Given the description of an element on the screen output the (x, y) to click on. 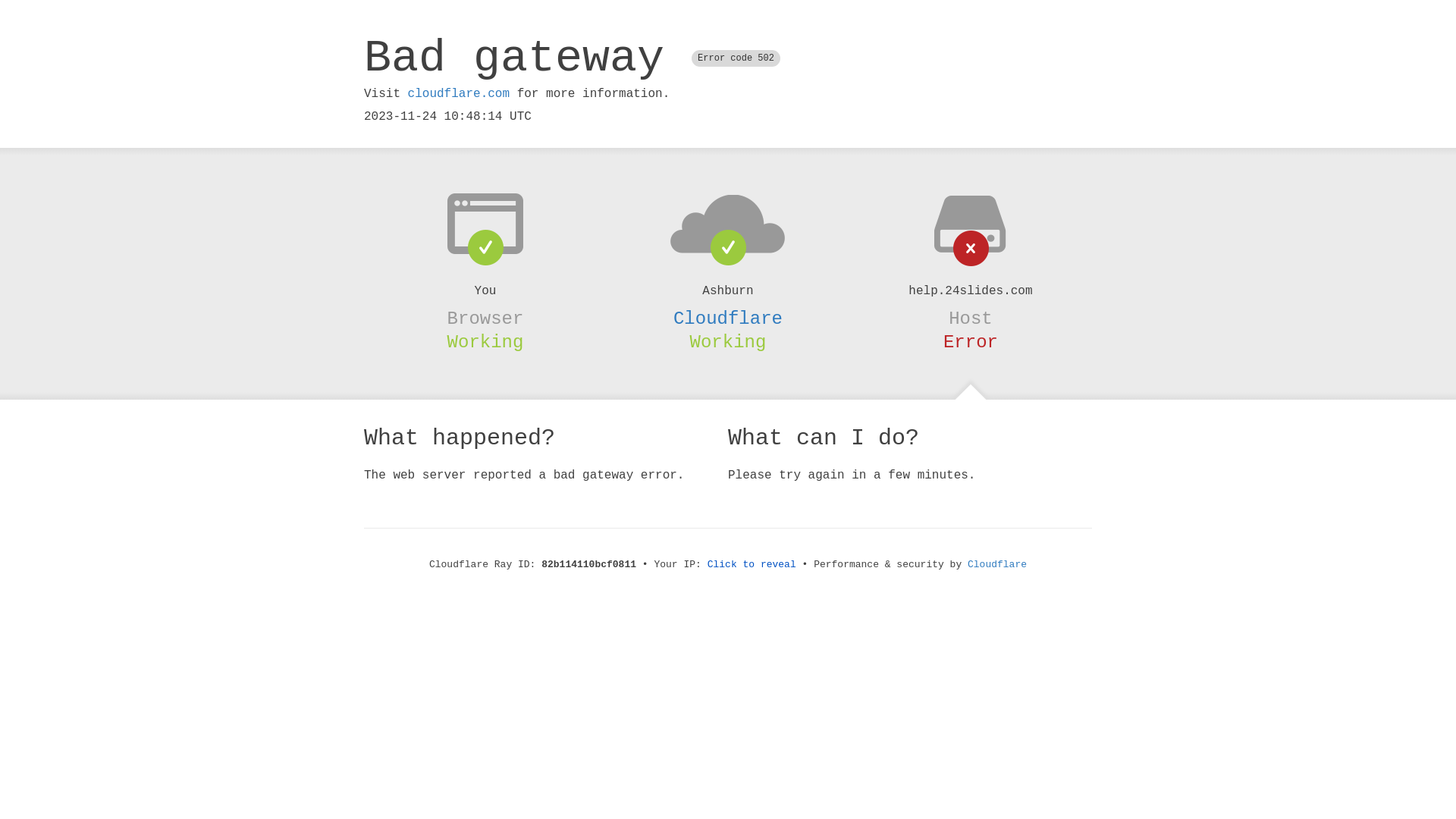
Cloudflare Element type: text (727, 318)
cloudflare.com Element type: text (458, 93)
Cloudflare Element type: text (996, 564)
Click to reveal Element type: text (751, 564)
